Given the description of an element on the screen output the (x, y) to click on. 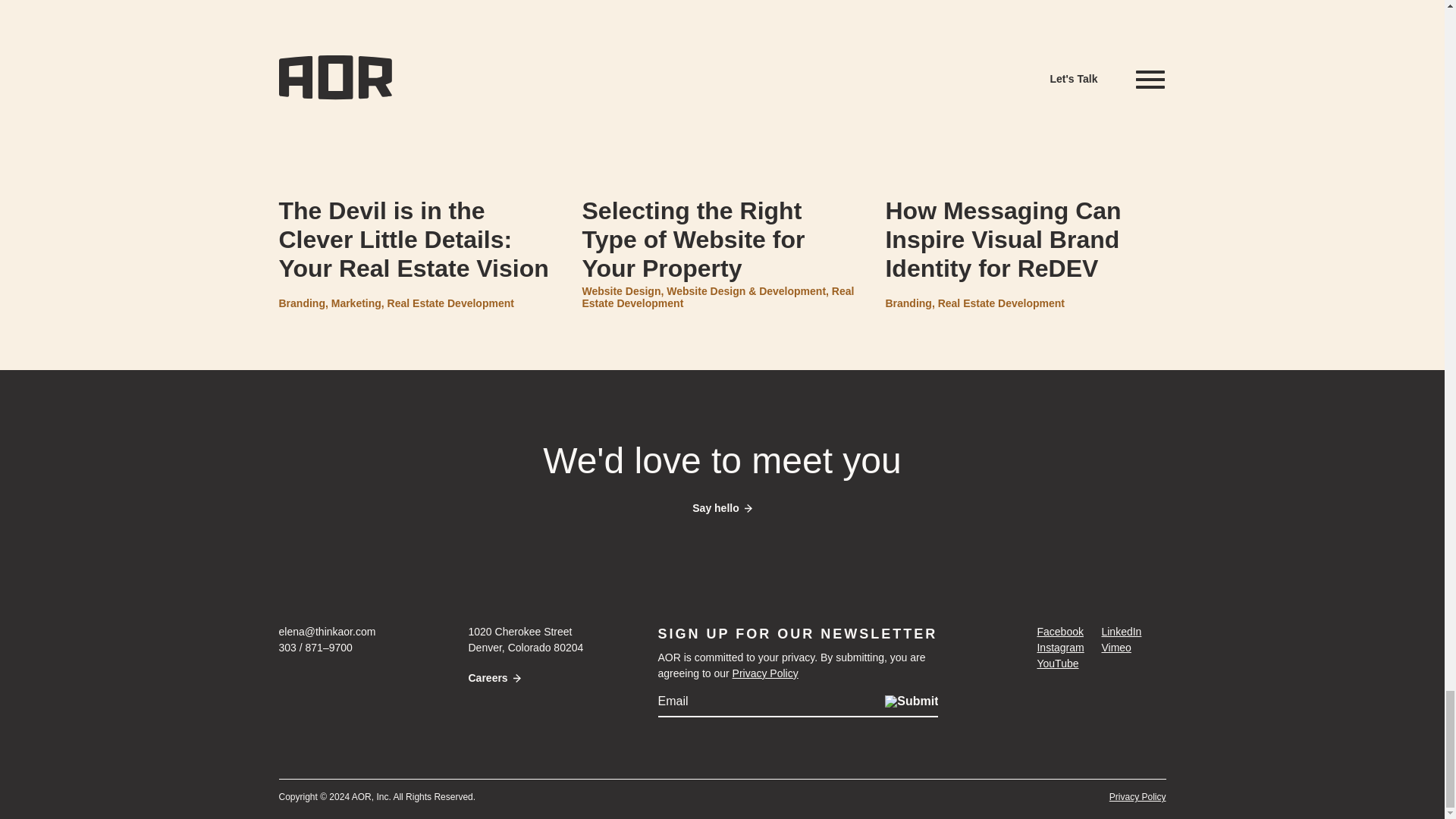
How Messaging Can Inspire Visual Brand Identity for ReDEV (1025, 239)
Selecting the Right Type of Website for Your Property (720, 239)
